Given the description of an element on the screen output the (x, y) to click on. 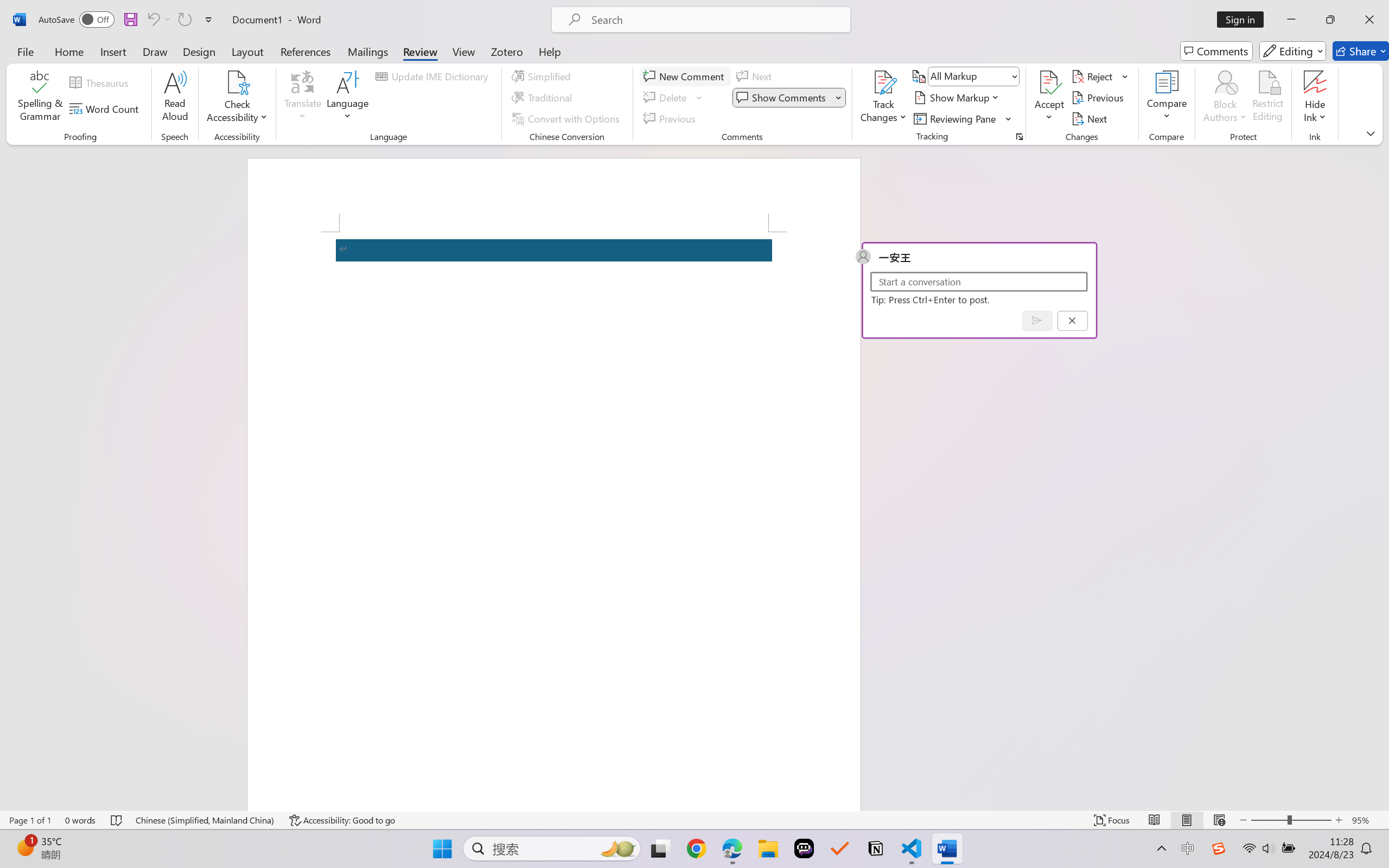
Hide Ink (1315, 81)
Show Markup (957, 97)
Show Comments (788, 97)
Word Count (105, 108)
Cancel (1072, 320)
Start a conversation (978, 281)
Repeat TCSCTranslate (184, 19)
